Given the description of an element on the screen output the (x, y) to click on. 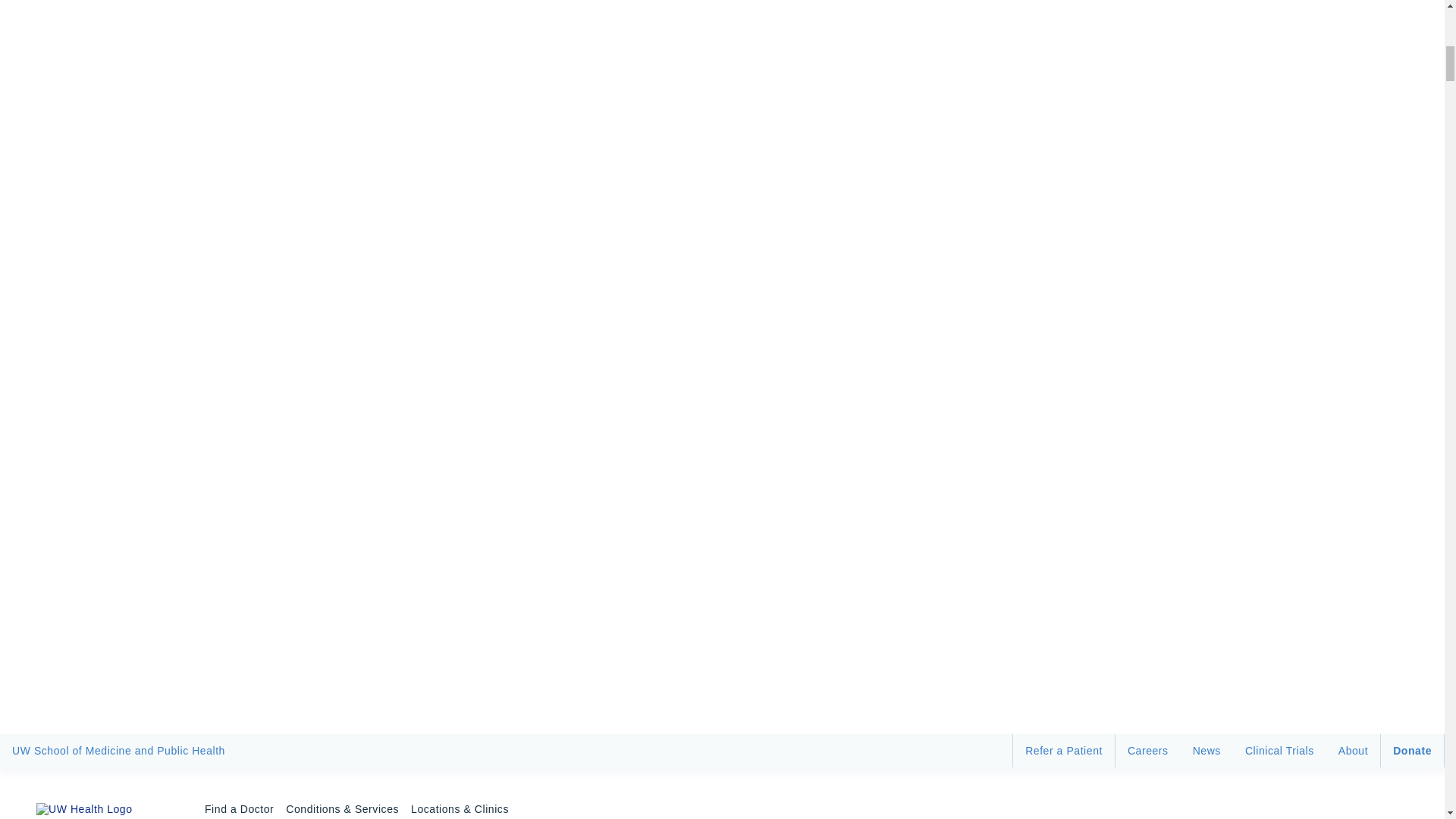
News (1206, 750)
Refer a Patient (1064, 750)
Clinical Trials (1279, 750)
Find a Doctor (239, 798)
Donate (1412, 750)
MyChart (1386, 798)
UW School of Medicine and Public Health (118, 750)
About (1353, 750)
Careers (1147, 750)
